Given the description of an element on the screen output the (x, y) to click on. 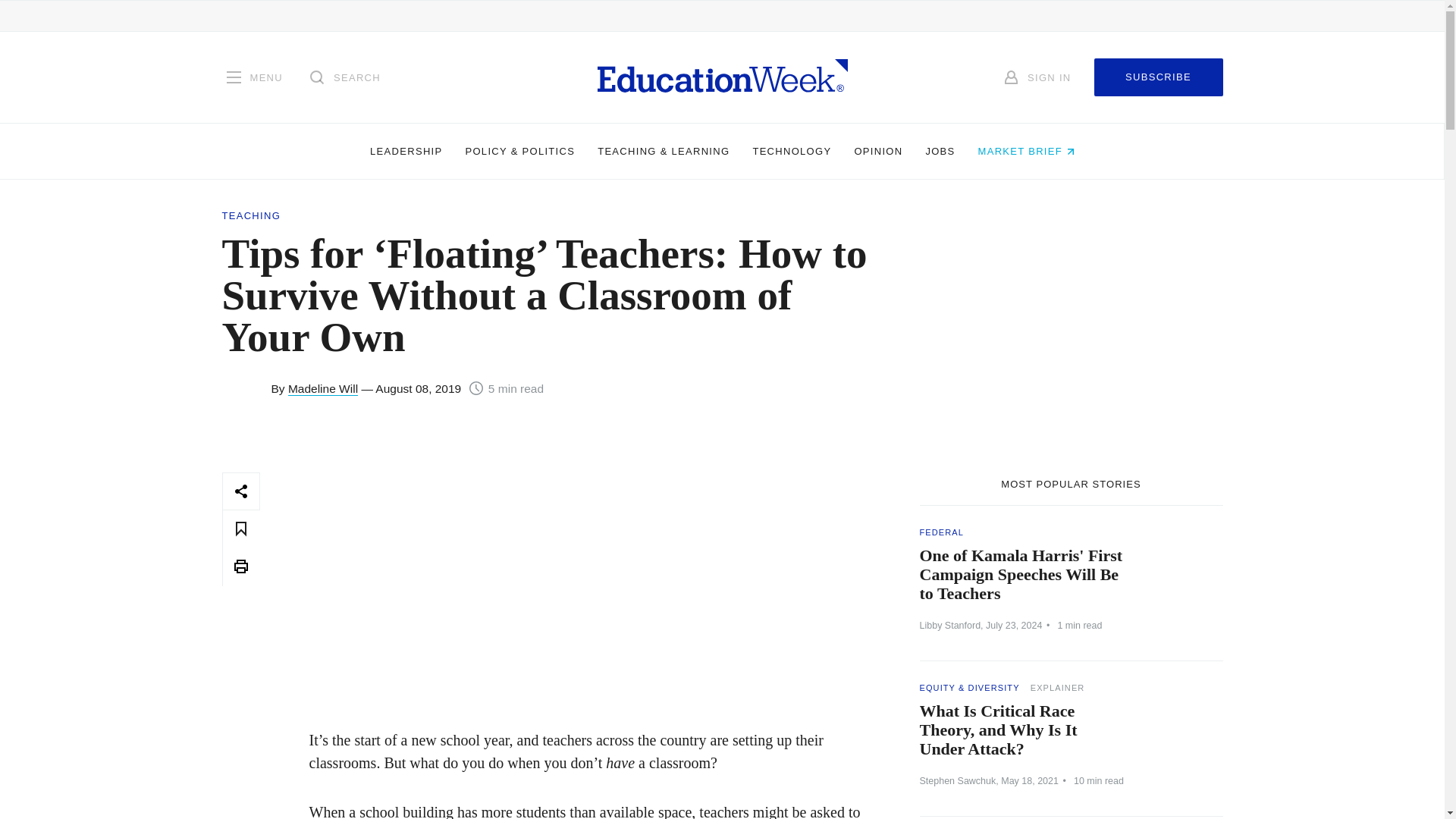
Homepage (721, 76)
